Given the description of an element on the screen output the (x, y) to click on. 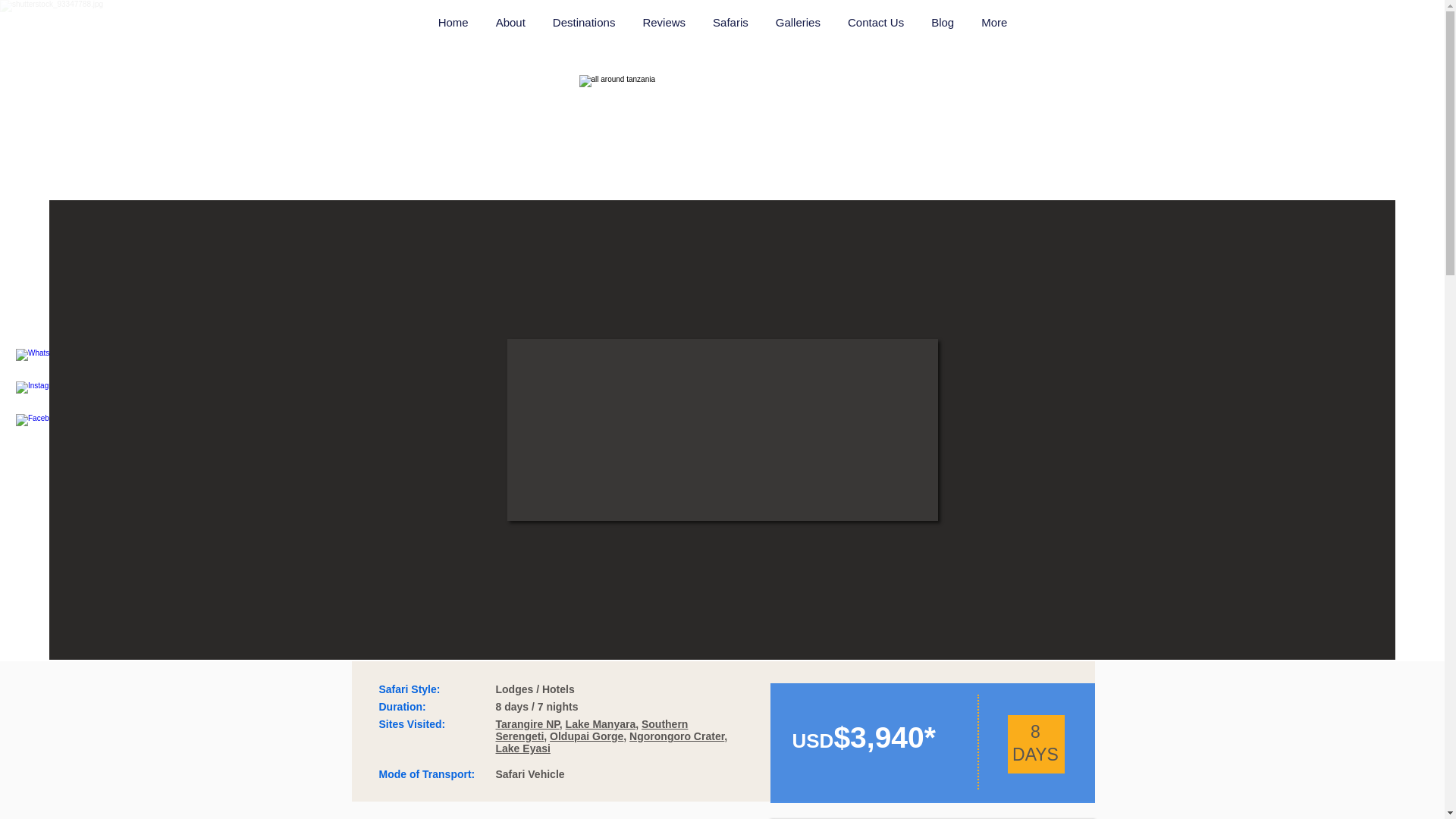
Galleries (797, 26)
Contact Us (875, 26)
Safaris (729, 26)
About (509, 26)
Lake Eyasi (523, 748)
Tarangire NP (527, 724)
Blog (942, 26)
Reviews (663, 26)
Ngorongoro Crater (675, 736)
Southern Serengeti (592, 730)
